Given the description of an element on the screen output the (x, y) to click on. 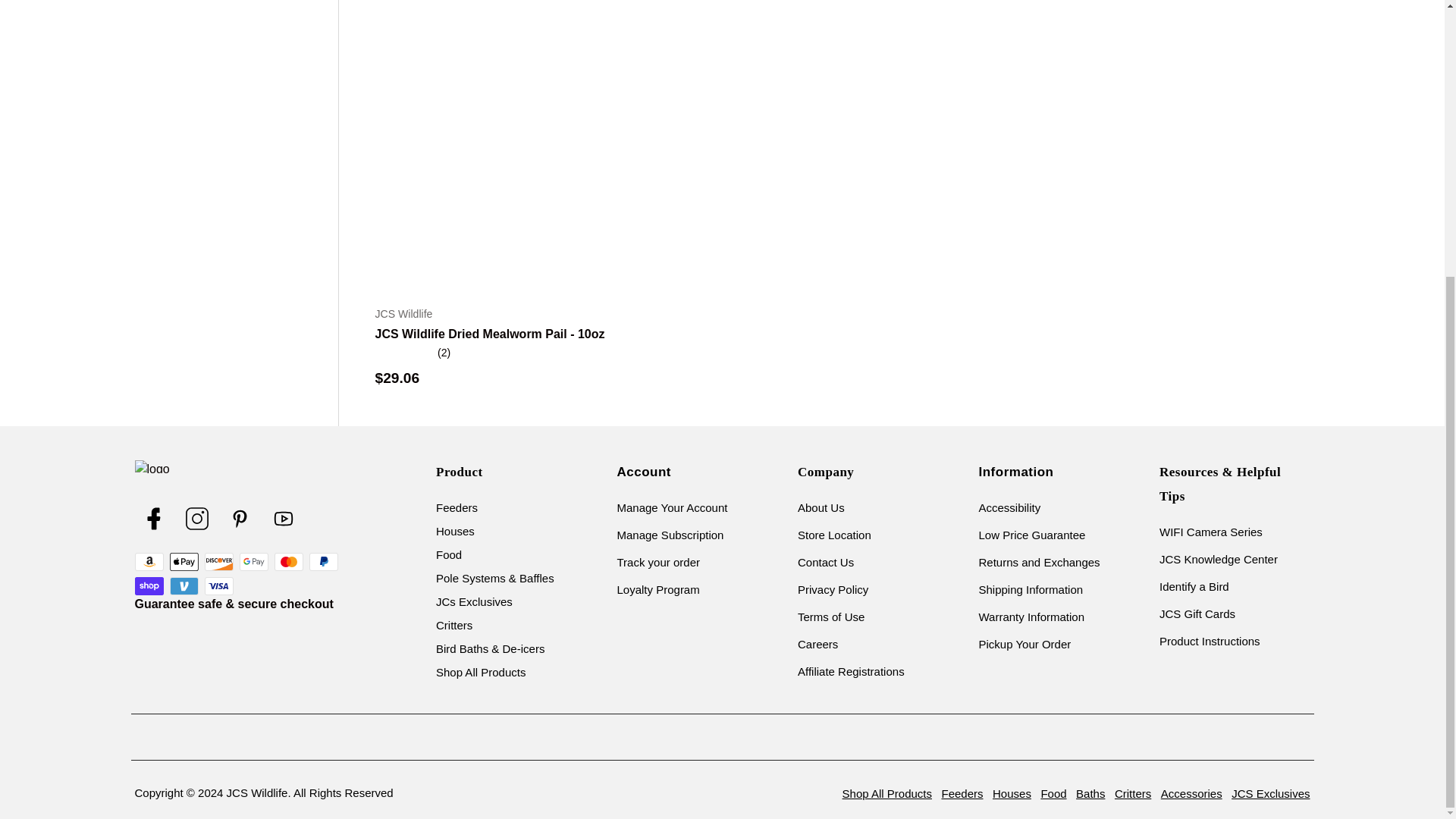
Contact Us (850, 562)
Food (494, 554)
Terms of Use (850, 616)
Manage Subscription (672, 534)
Houses (494, 530)
Careers (850, 643)
JCs Exclusives (494, 601)
Store Location (850, 534)
Feeders (494, 507)
Manage Your Account (672, 507)
